Given the description of an element on the screen output the (x, y) to click on. 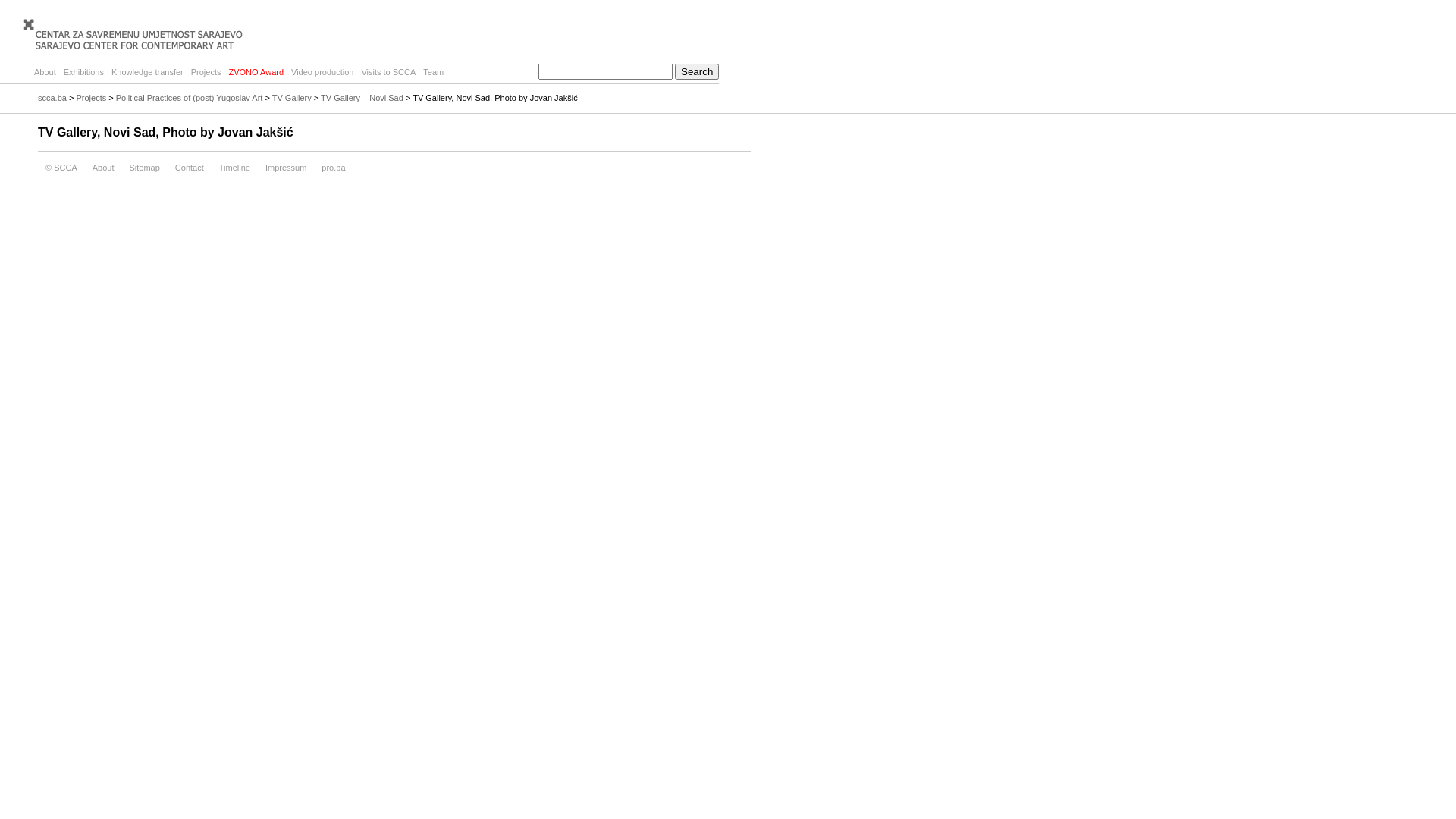
Visits to SCCA Element type: text (388, 71)
ZVONO Award Element type: text (255, 71)
scca.ba Element type: text (51, 97)
Contact Element type: text (189, 167)
Projects Element type: text (206, 71)
Impressum Element type: text (285, 167)
Team Element type: text (433, 71)
Political Practices of (post) Yugoslav Art Element type: text (189, 97)
Search Element type: text (696, 71)
About Element type: text (103, 167)
About Element type: text (44, 71)
Sitemap Element type: text (143, 167)
pro.ba Element type: text (332, 167)
TV Gallery Element type: text (291, 97)
Projects Element type: text (90, 97)
Timeline Element type: text (234, 167)
Exhibitions Element type: text (83, 71)
Knowledge transfer Element type: text (147, 71)
Video production Element type: text (322, 71)
